Given the description of an element on the screen output the (x, y) to click on. 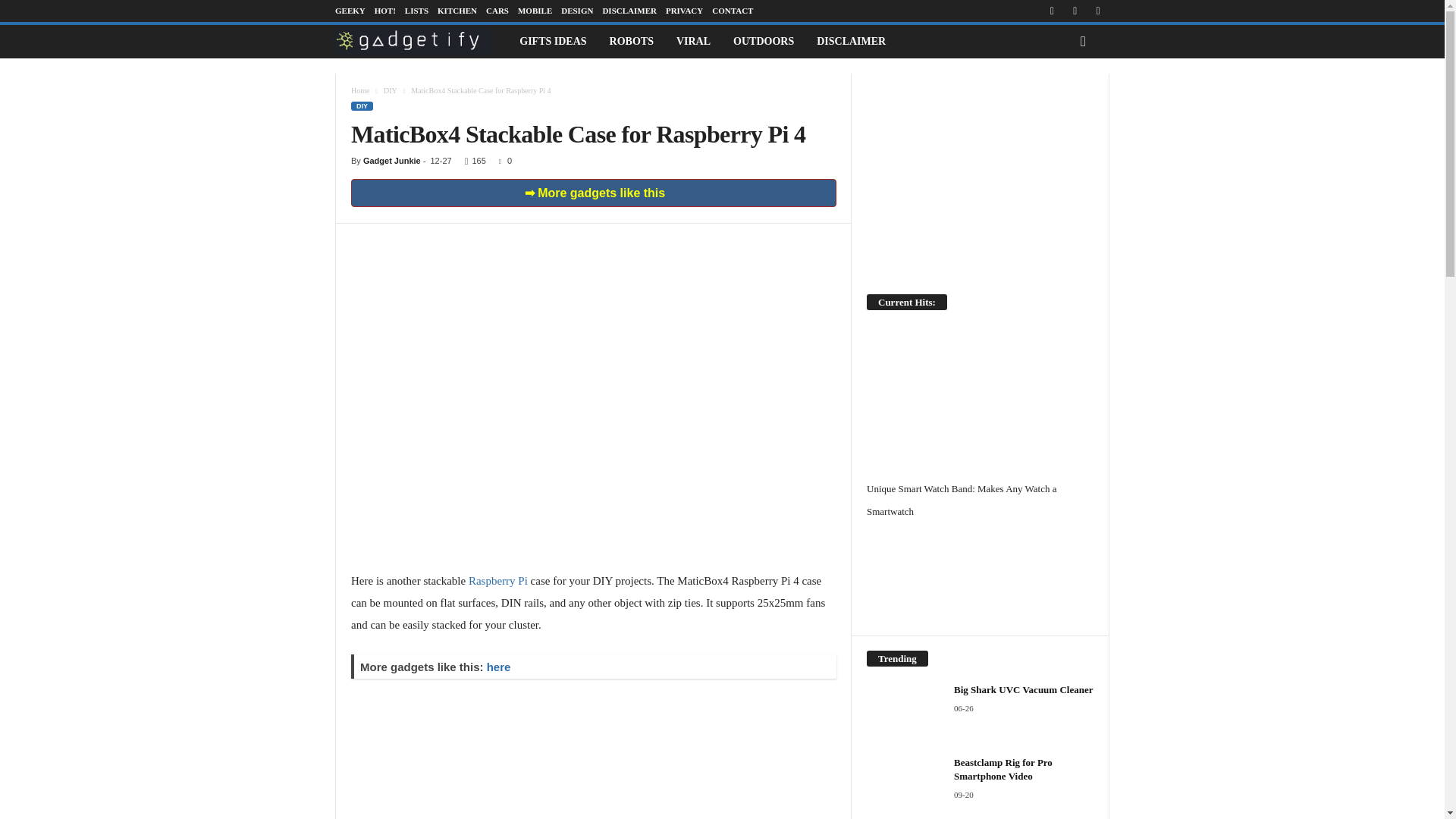
GEEKY (349, 10)
LISTS (416, 10)
HOT! (385, 10)
